Given the description of an element on the screen output the (x, y) to click on. 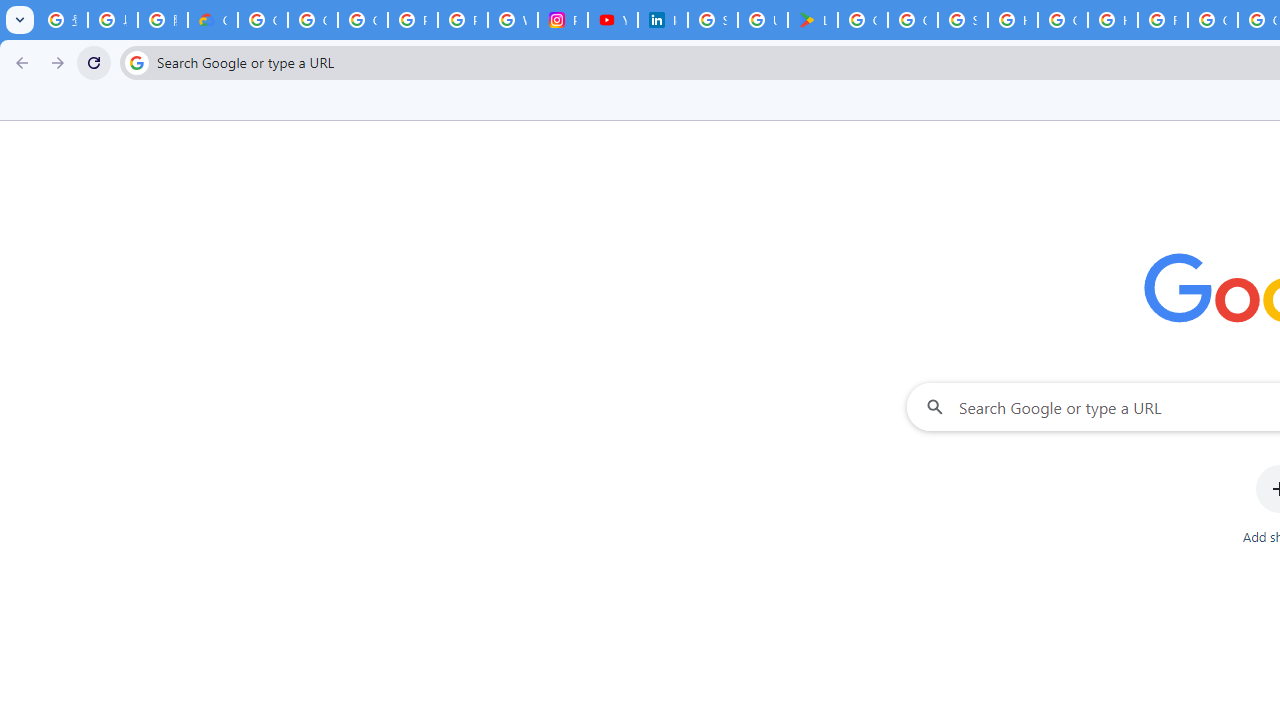
Google Workspace - Specific Terms (913, 20)
Last Shelter: Survival - Apps on Google Play (813, 20)
Sign in - Google Accounts (712, 20)
Search icon (136, 62)
